Given the description of an element on the screen output the (x, y) to click on. 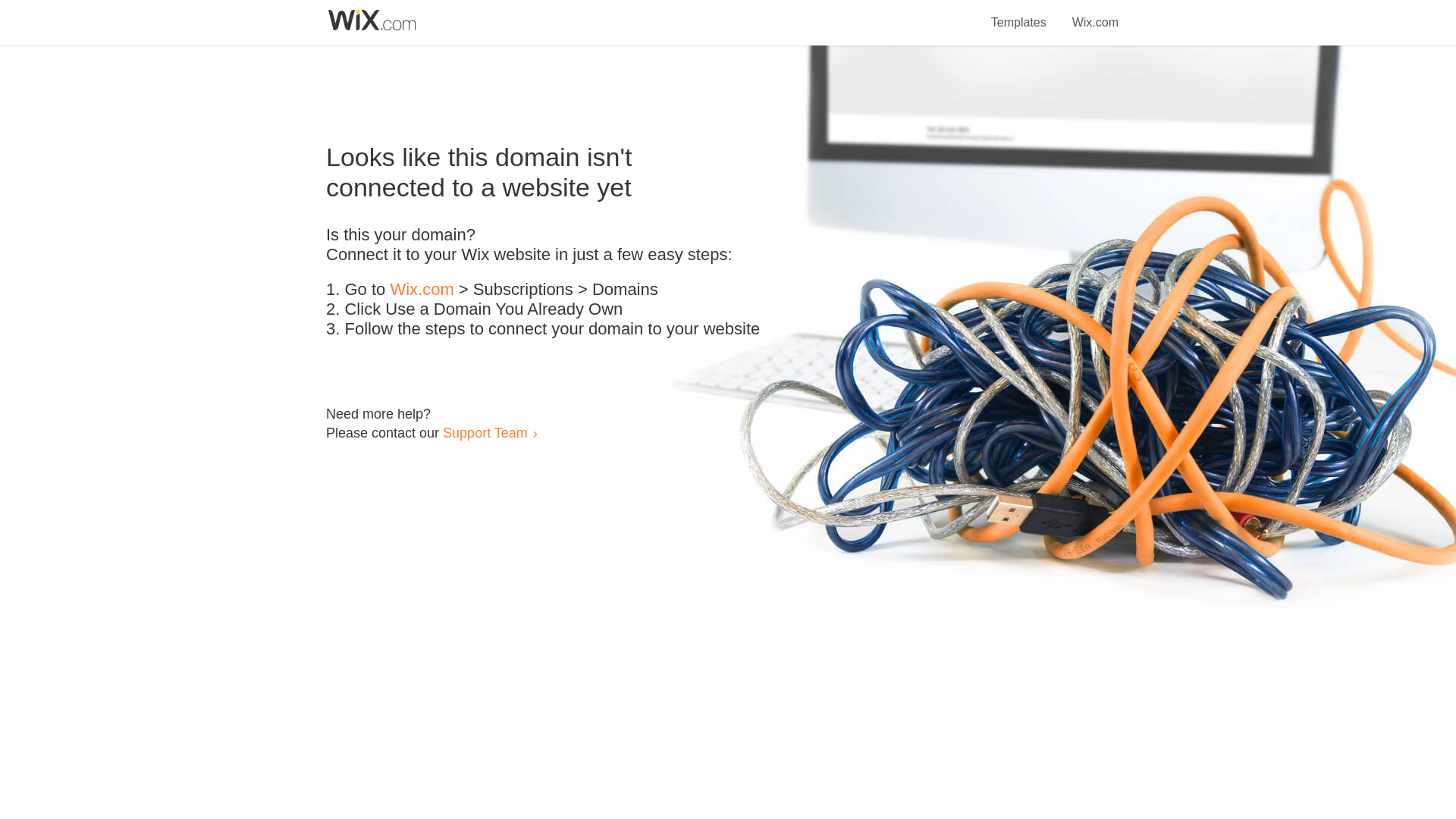
Templates (1018, 14)
Wix.com (1095, 14)
Wix.com (421, 289)
Support Team (484, 432)
